Given the description of an element on the screen output the (x, y) to click on. 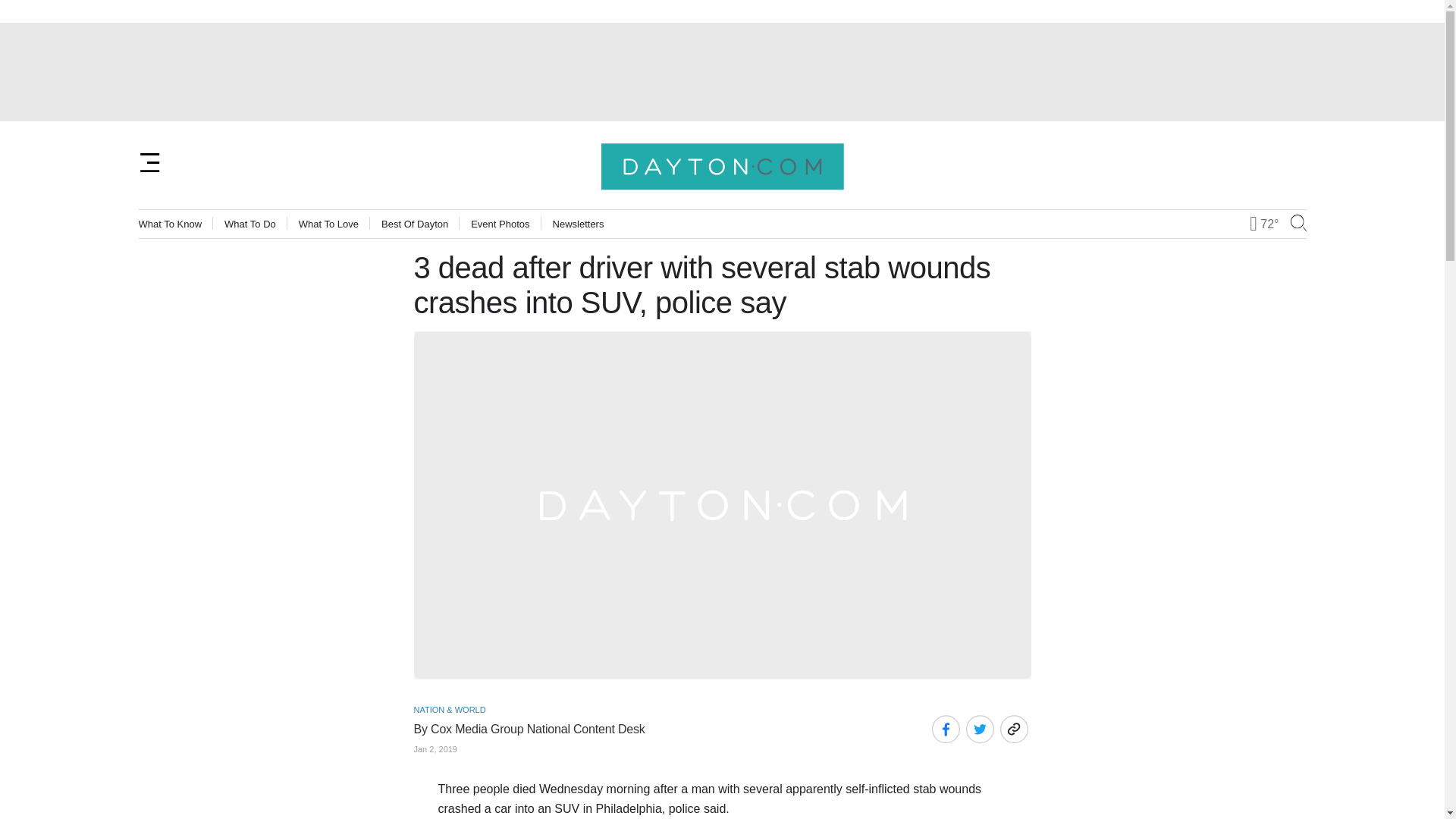
Best Of Dayton (414, 224)
What To Do (250, 224)
What To Love (328, 224)
Newsletters (578, 224)
Event Photos (499, 224)
What To Know (170, 224)
